Given the description of an element on the screen output the (x, y) to click on. 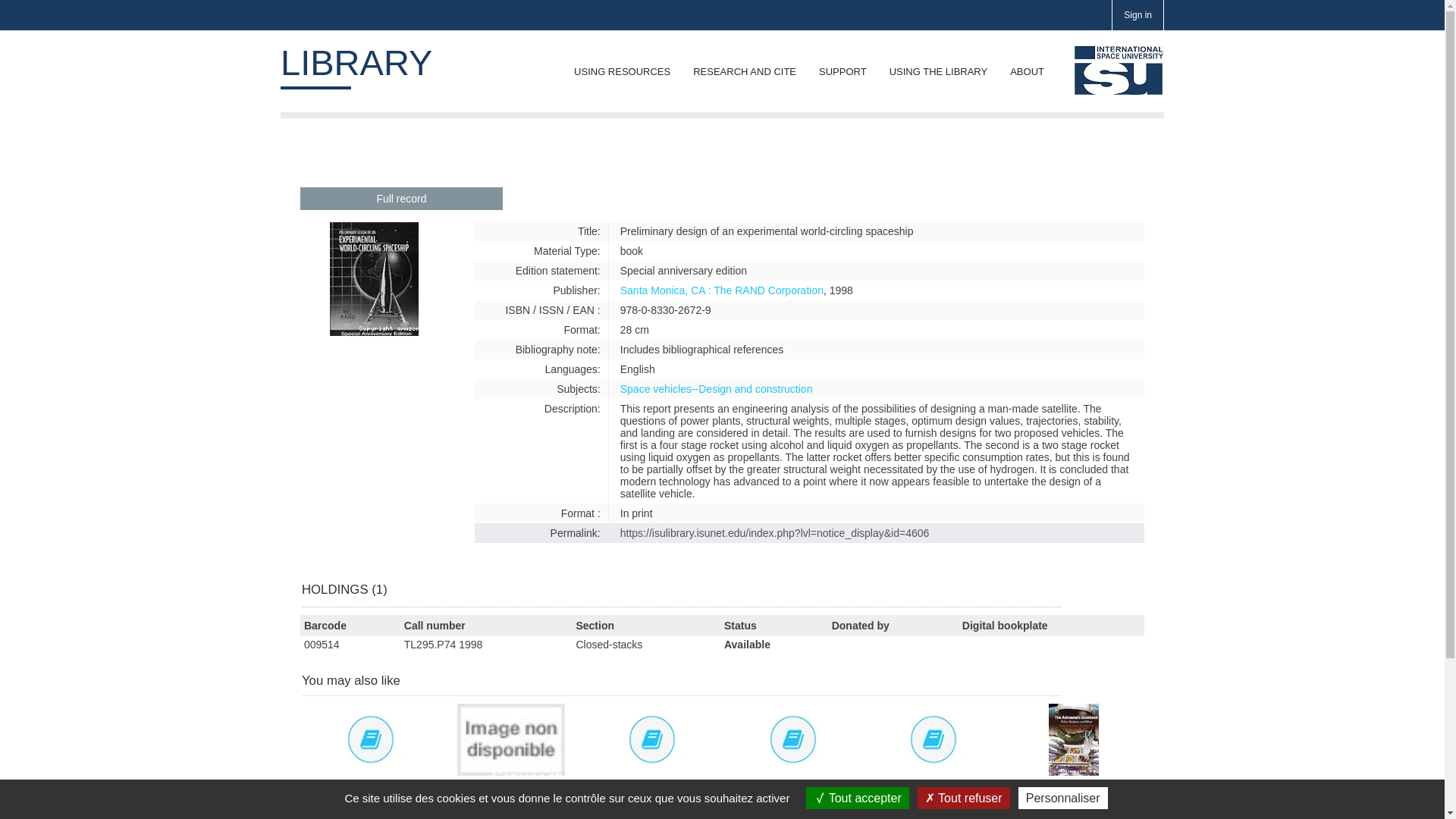
Sign in (1137, 15)
USING RESOURCES (621, 71)
LIBRARY (356, 62)
RESEARCH AND CITE (744, 71)
LIBRARY (356, 62)
My Library account (1137, 15)
LIBRARY (1118, 70)
